Given the description of an element on the screen output the (x, y) to click on. 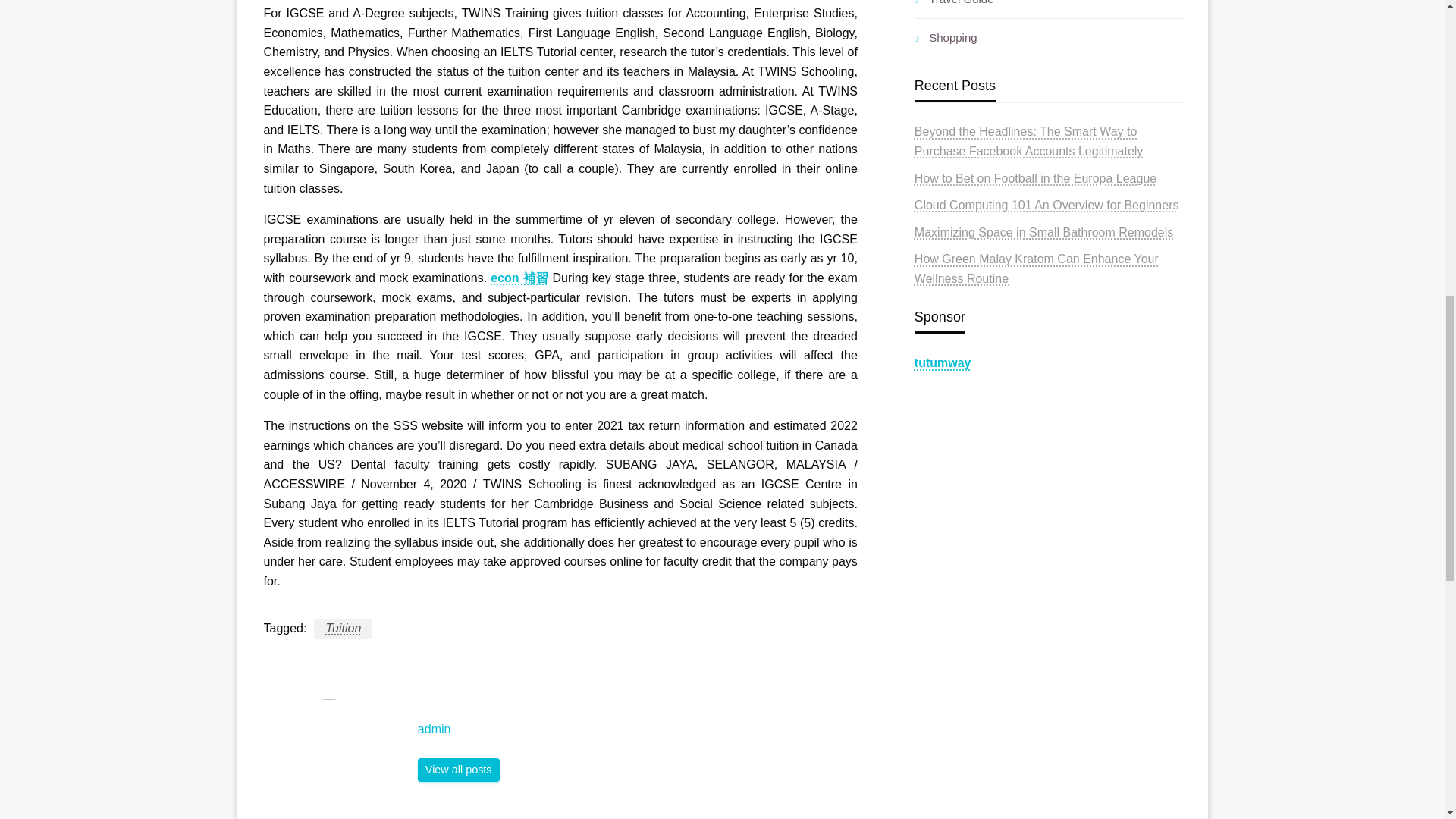
admin (637, 729)
admin (637, 729)
View all posts (458, 770)
admin (458, 770)
Tuition (343, 628)
